Given the description of an element on the screen output the (x, y) to click on. 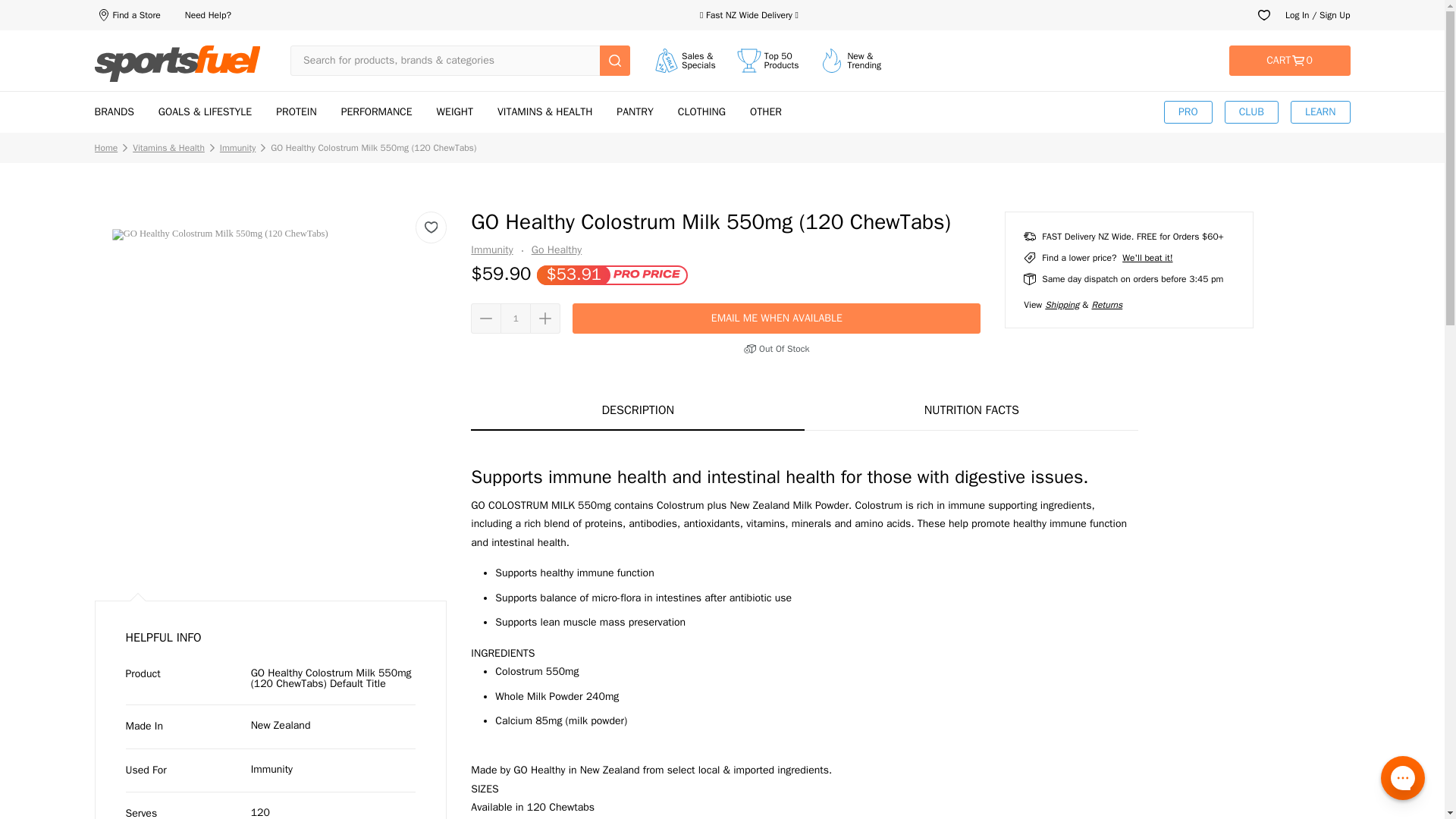
Need Help? (208, 14)
1 (515, 318)
Home (177, 63)
My Wishlist (1264, 15)
Find a Store (1288, 60)
BRANDS (126, 15)
Top 50 Products (113, 111)
